Given the description of an element on the screen output the (x, y) to click on. 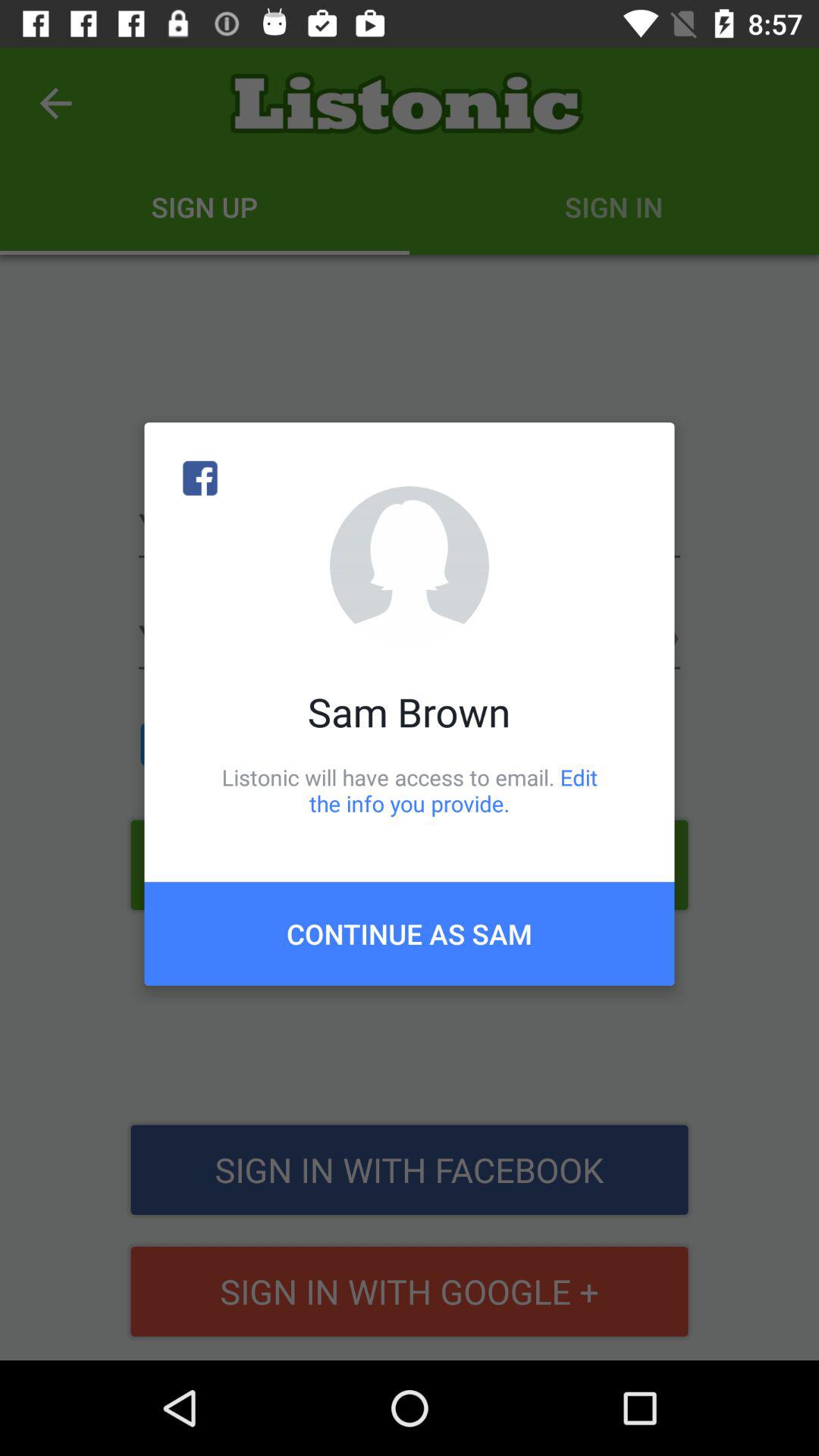
turn on icon below the listonic will have item (409, 933)
